Given the description of an element on the screen output the (x, y) to click on. 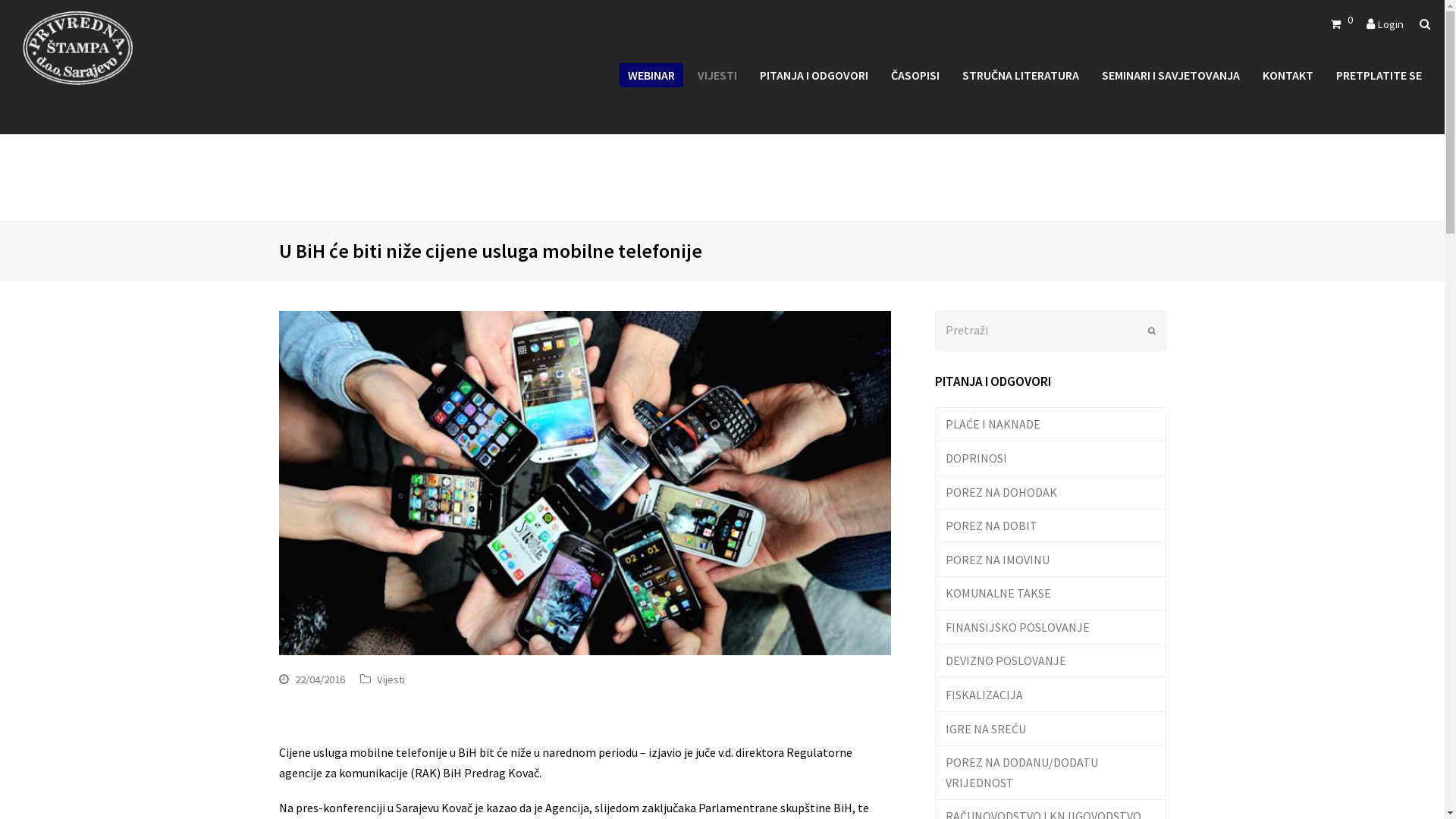
POREZ NA IMOVINU Element type: text (1050, 559)
FISKALIZACIJA Element type: text (1050, 694)
FINANSIJSKO POSLOVANJE Element type: text (1050, 627)
WEBINAR Element type: text (651, 75)
Login Element type: text (1390, 23)
POREZ NA DOHODAK Element type: text (1050, 492)
Submit Element type: text (1151, 330)
KONTAKT Element type: text (1287, 75)
0 Element type: text (1341, 23)
PITANJA I ODGOVORI Element type: text (813, 75)
DEVIZNO POSLOVANJE Element type: text (1050, 661)
PRETPLATITE SE Element type: text (1378, 75)
VIJESTI Element type: text (717, 75)
Vijesti Element type: text (390, 678)
POREZ NA DOBIT Element type: text (1050, 526)
KOMUNALNE TAKSE Element type: text (1050, 594)
DOPRINOSI Element type: text (1050, 458)
POREZ NA DODANU/DODATU VRIJEDNOST Element type: text (1050, 773)
SEMINARI I SAVJETOVANJA Element type: text (1170, 75)
